Given the description of an element on the screen output the (x, y) to click on. 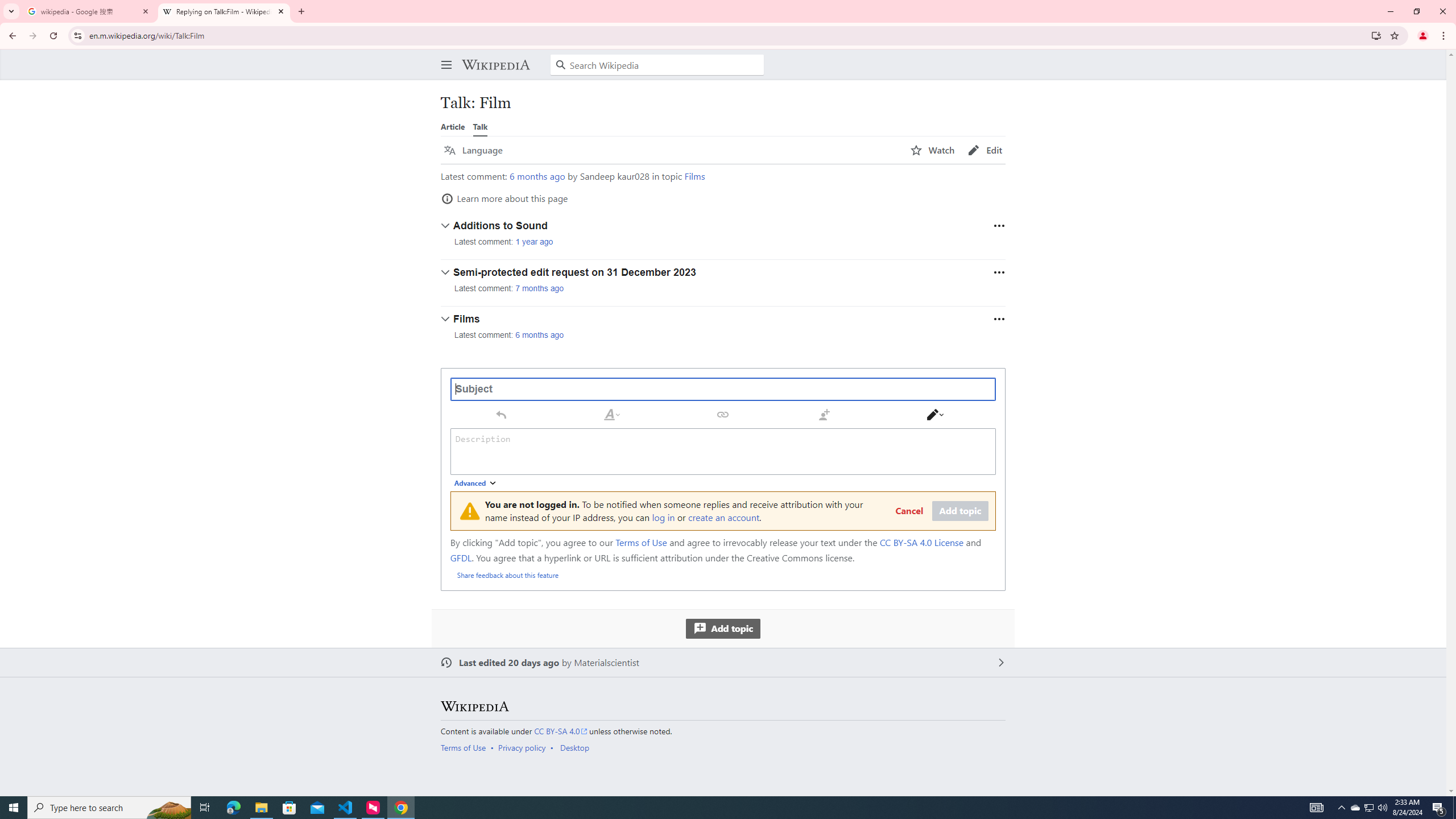
Link Ctrl+K (723, 414)
Description (722, 451)
Search Wikipedia (657, 64)
Watch (932, 149)
AutomationID: footer-places-desktop-toggle (576, 747)
AutomationID: language-selector (670, 150)
1 year ago (534, 241)
Switch editor (934, 414)
7 months ago (539, 288)
